Given the description of an element on the screen output the (x, y) to click on. 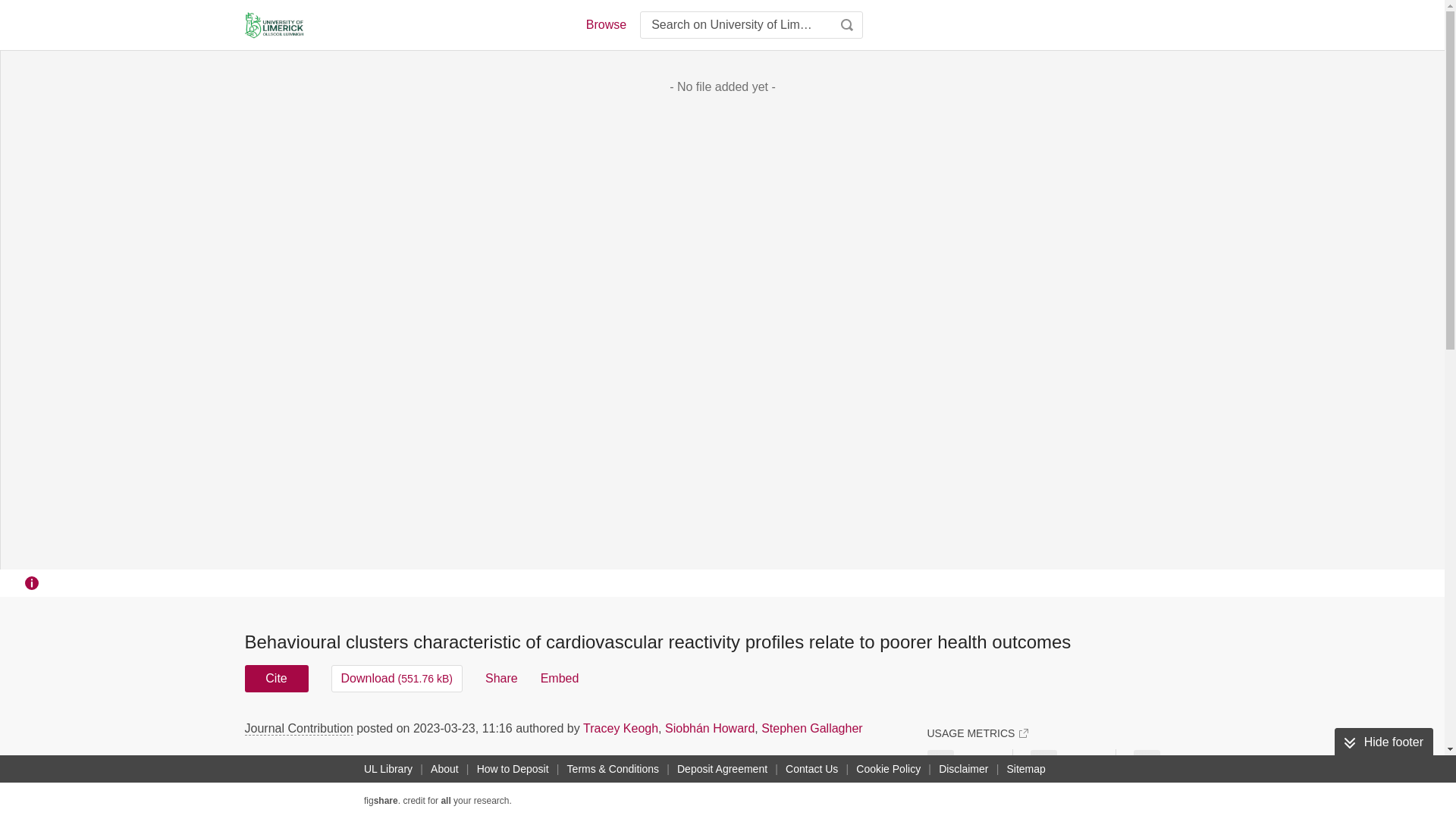
Sitemap (1025, 769)
How to Deposit (512, 769)
Contact Us (811, 769)
Browse (605, 24)
Hide footer (1383, 742)
Deposit Agreement (721, 769)
Stephen Gallagher (811, 727)
Share (501, 678)
Cite (275, 678)
Embed (559, 678)
